Given the description of an element on the screen output the (x, y) to click on. 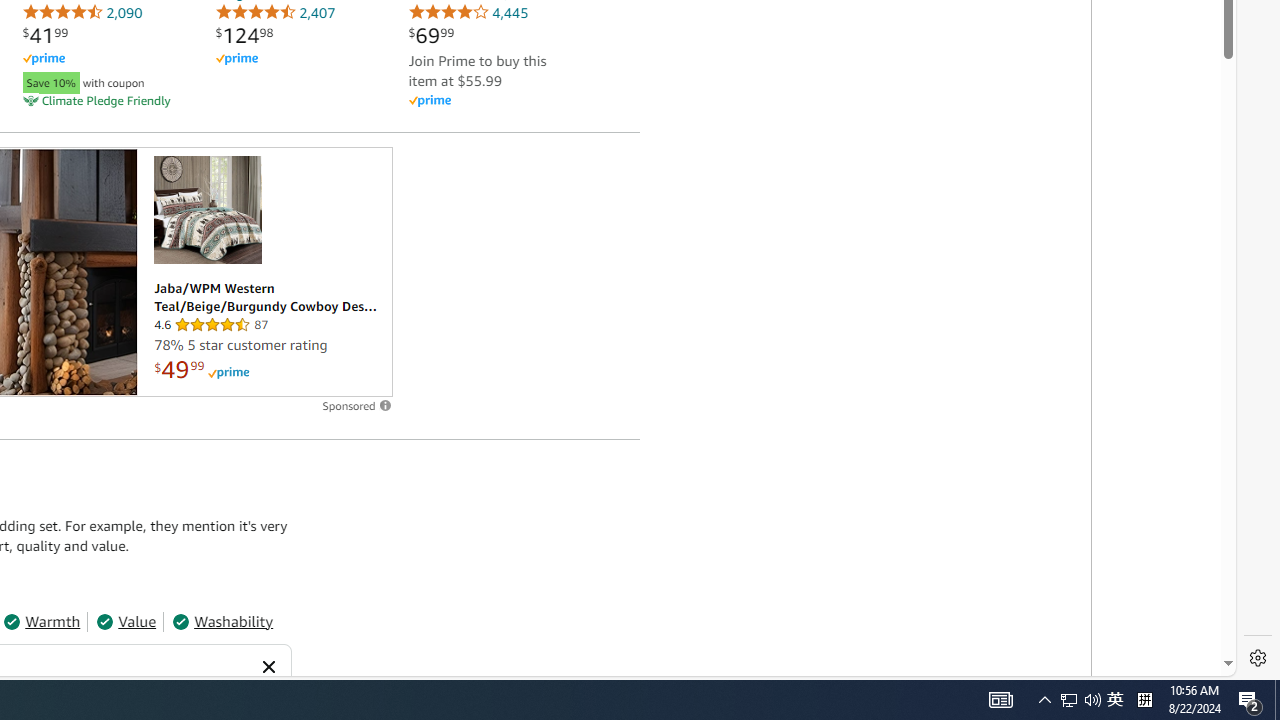
Amazon Prime (488, 100)
$41.99 (45, 35)
